Given the description of an element on the screen output the (x, y) to click on. 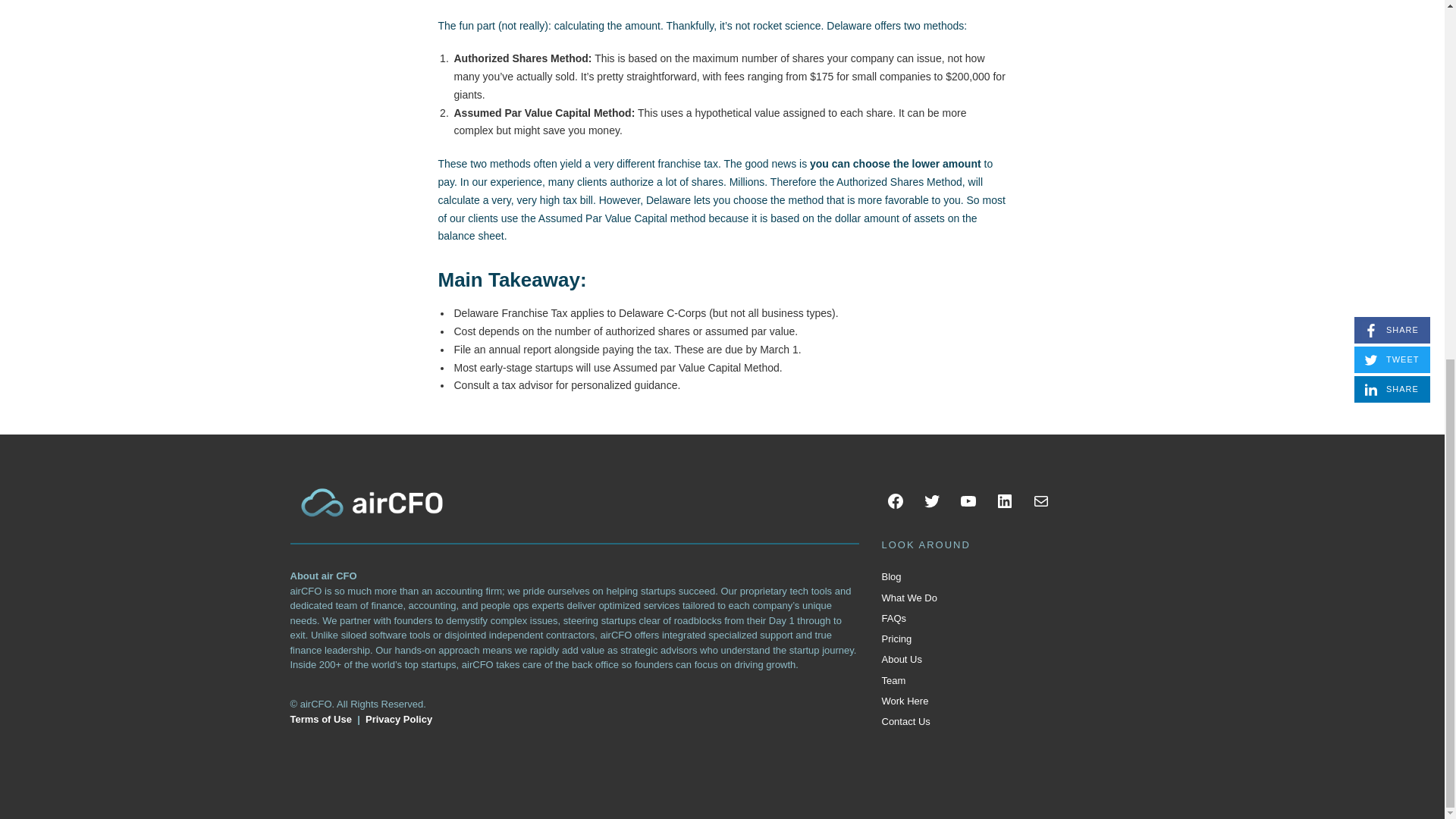
YouTube (967, 501)
Facebook (894, 501)
Terms of Use (319, 718)
Blog (890, 576)
LinkedIn (1003, 501)
Mail (1040, 501)
Twitter (930, 501)
Privacy Policy (398, 718)
